Given the description of an element on the screen output the (x, y) to click on. 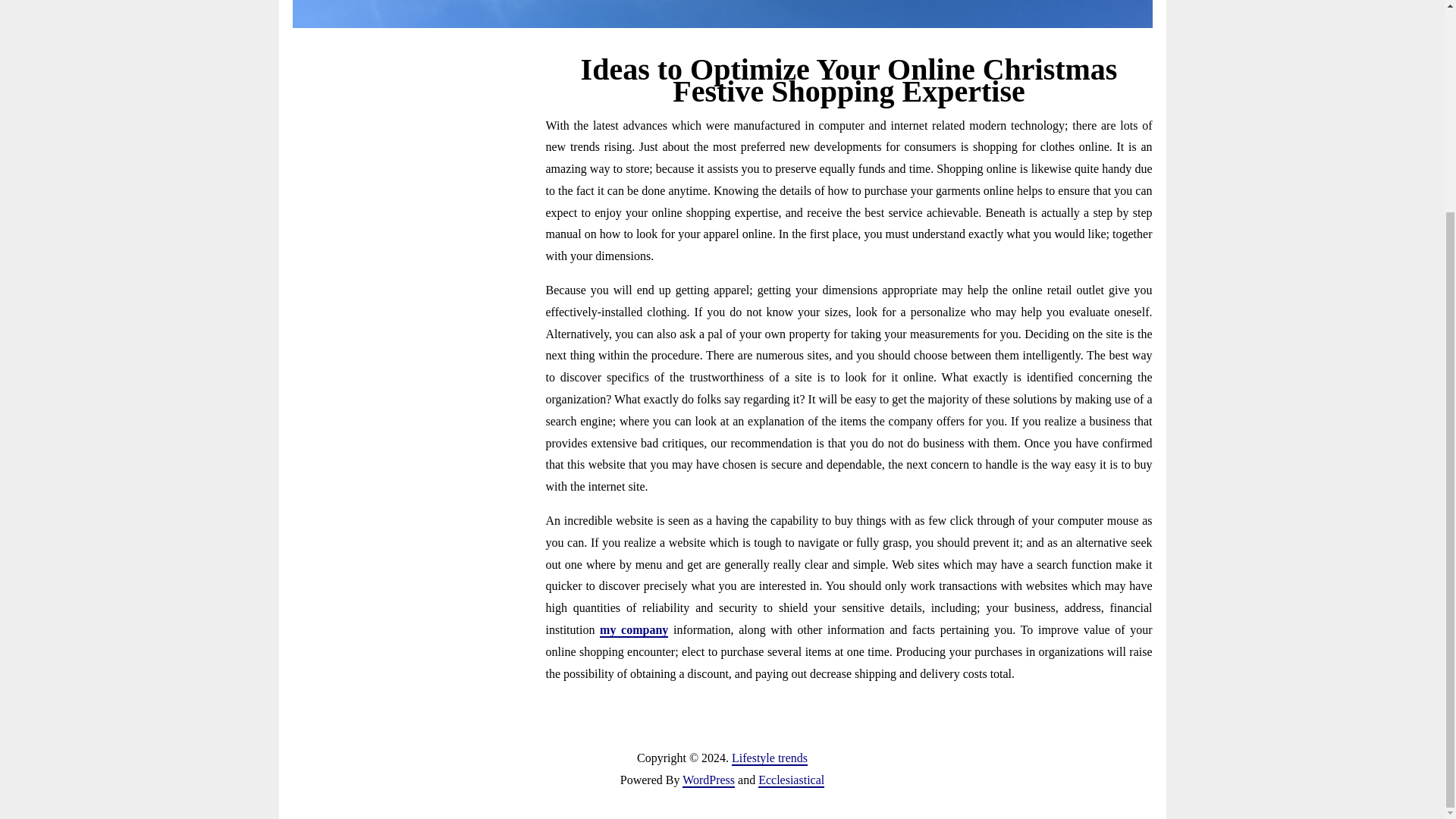
Ecclesiastical (791, 780)
my company (633, 630)
WordPress (708, 780)
Lifestyle trends (770, 758)
